Given the description of an element on the screen output the (x, y) to click on. 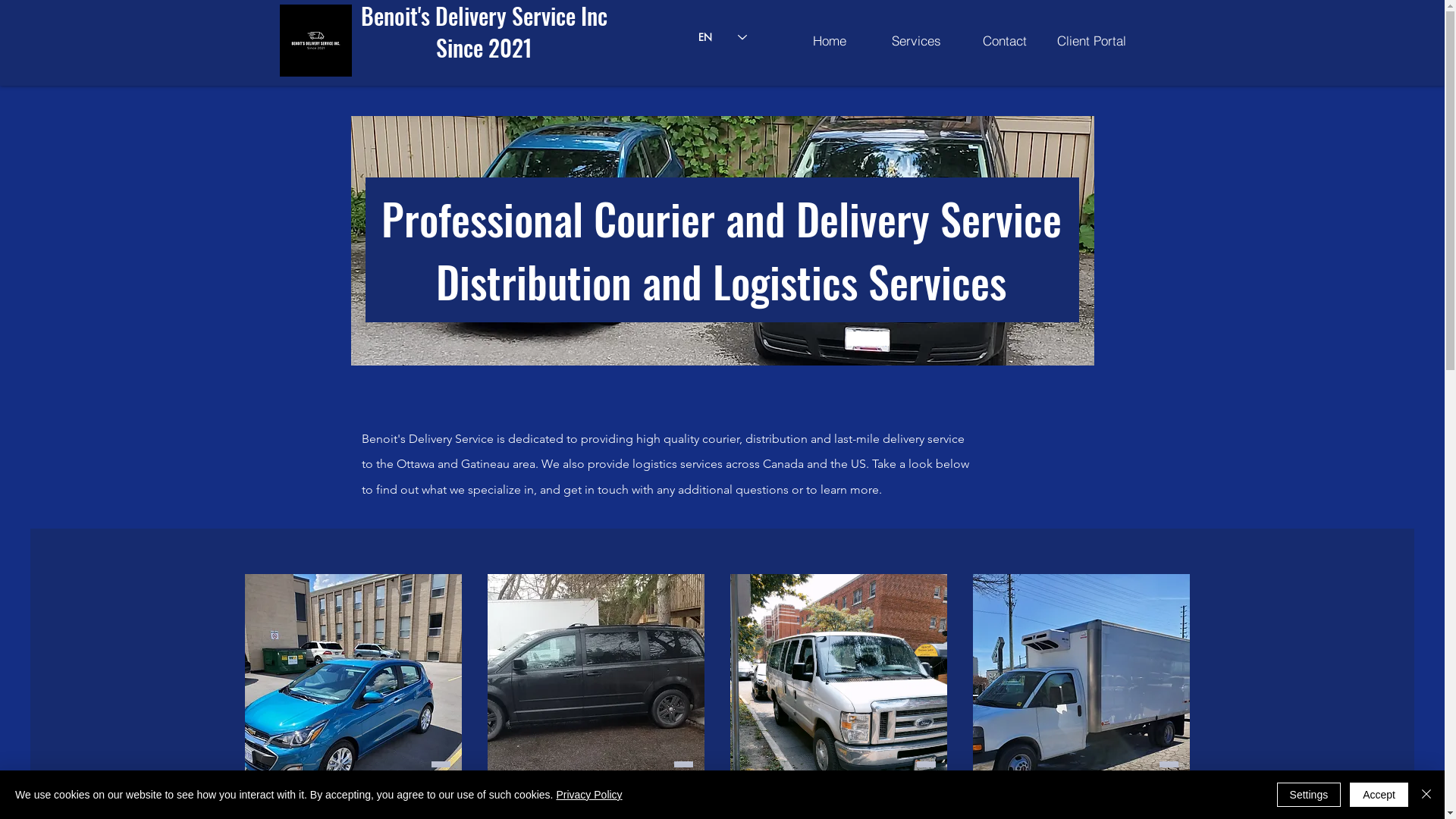
Home Element type: text (829, 40)
Services Element type: text (916, 40)
Contact Element type: text (1004, 40)
Accept Element type: text (1378, 794)
Client Portal Element type: text (1090, 40)
Settings Element type: text (1309, 794)
Privacy Policy Element type: text (588, 794)
White on Black.png Element type: hover (315, 40)
